Given the description of an element on the screen output the (x, y) to click on. 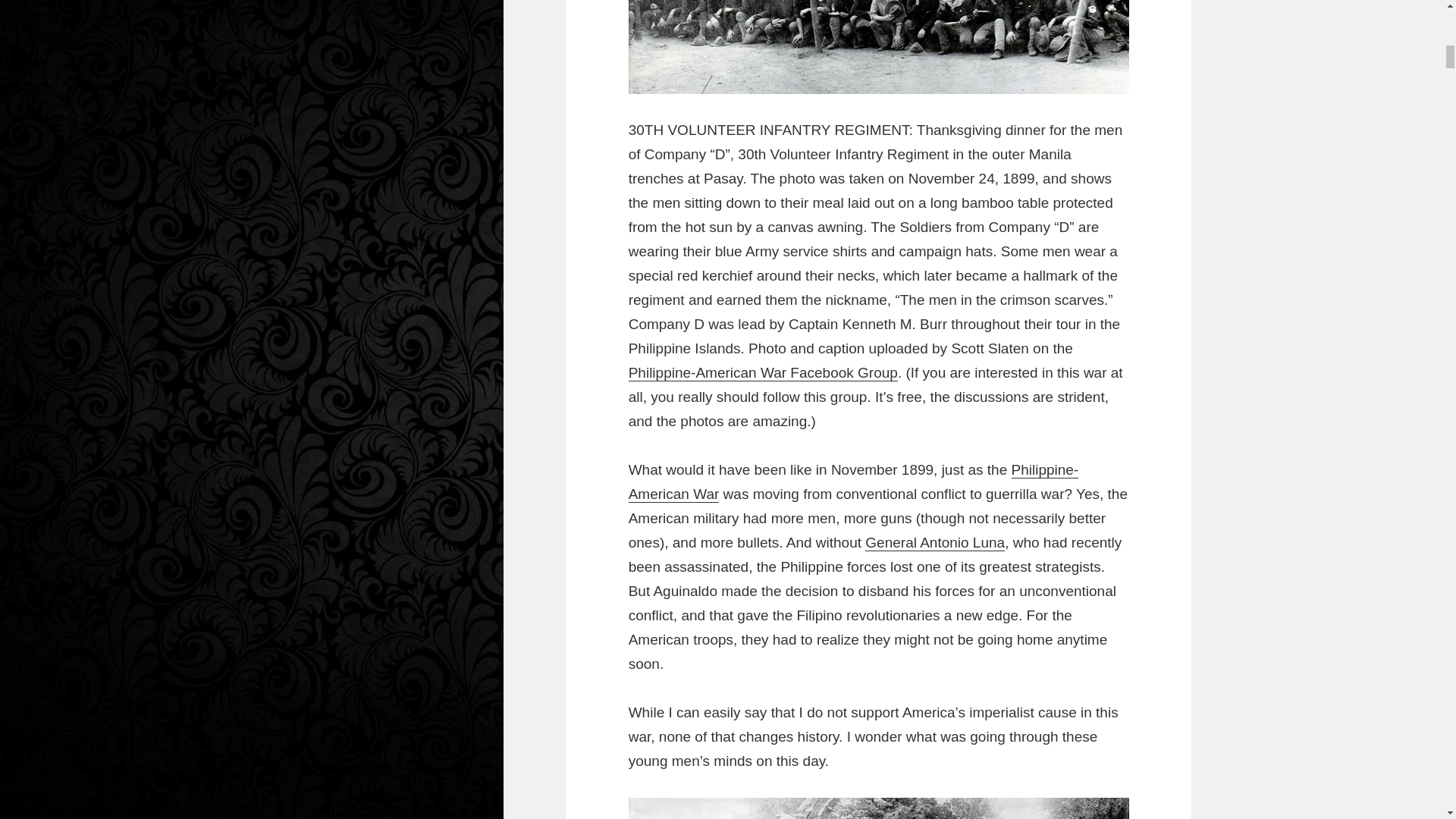
Philippine-American War (853, 481)
Philippine-American War Facebook Group (763, 372)
General Antonio Luna (934, 542)
